Given the description of an element on the screen output the (x, y) to click on. 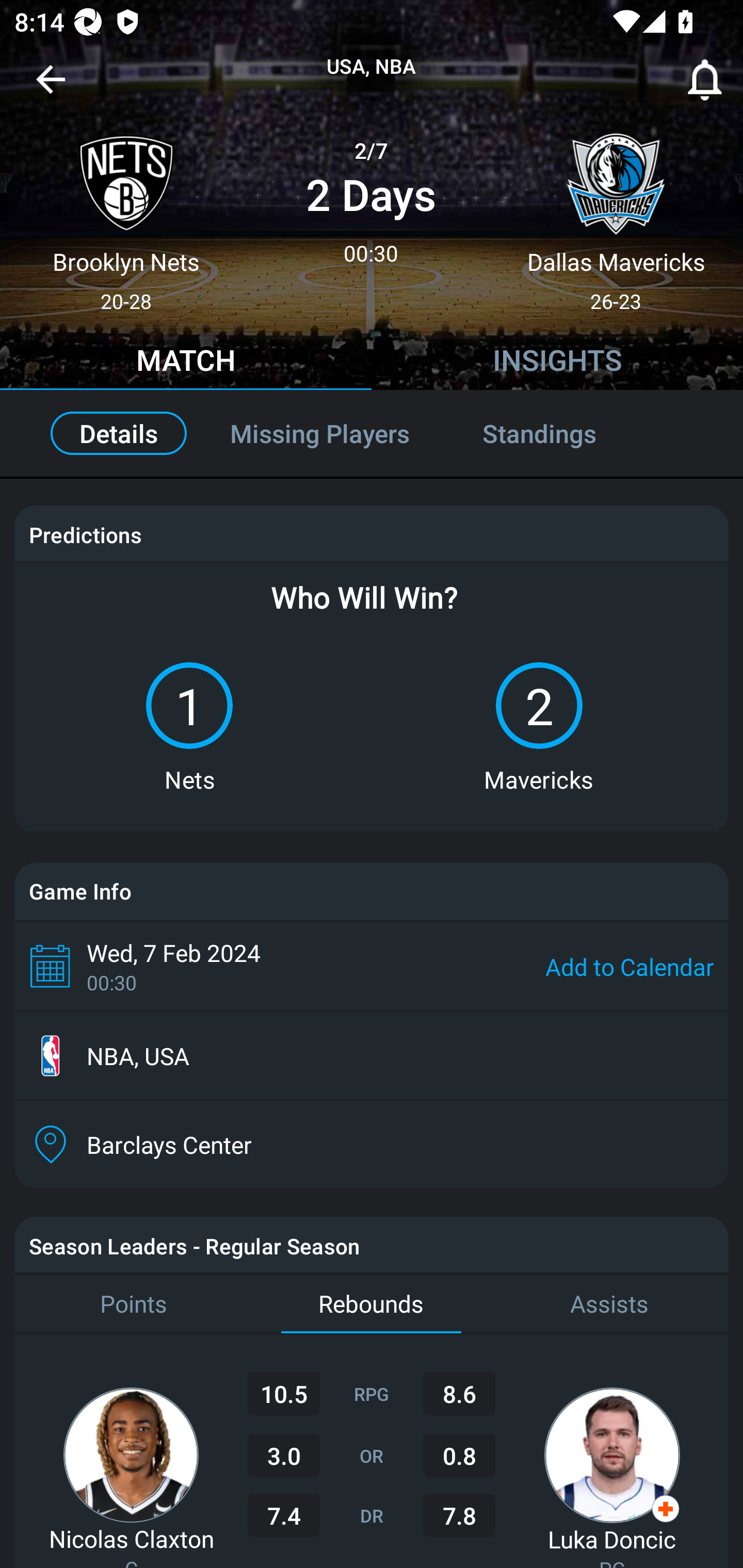
Navigate up (50, 86)
USA, NBA (371, 66)
Brooklyn Nets 20-28 (126, 214)
Dallas Mavericks 26-23 (616, 214)
MATCH (185, 362)
INSIGHTS (557, 362)
Missing Players (319, 433)
Standings (561, 433)
Predictions (85, 534)
1 (189, 705)
2 (538, 705)
Game Info (371, 891)
Wed, 7 Feb 2024 00:30 Add to Calendar (371, 965)
NBA, USA (371, 1055)
Barclays Center (371, 1144)
Points (133, 1303)
Assists (609, 1303)
Nicolas Claxton (131, 1537)
Luka Doncic (611, 1538)
